Given the description of an element on the screen output the (x, y) to click on. 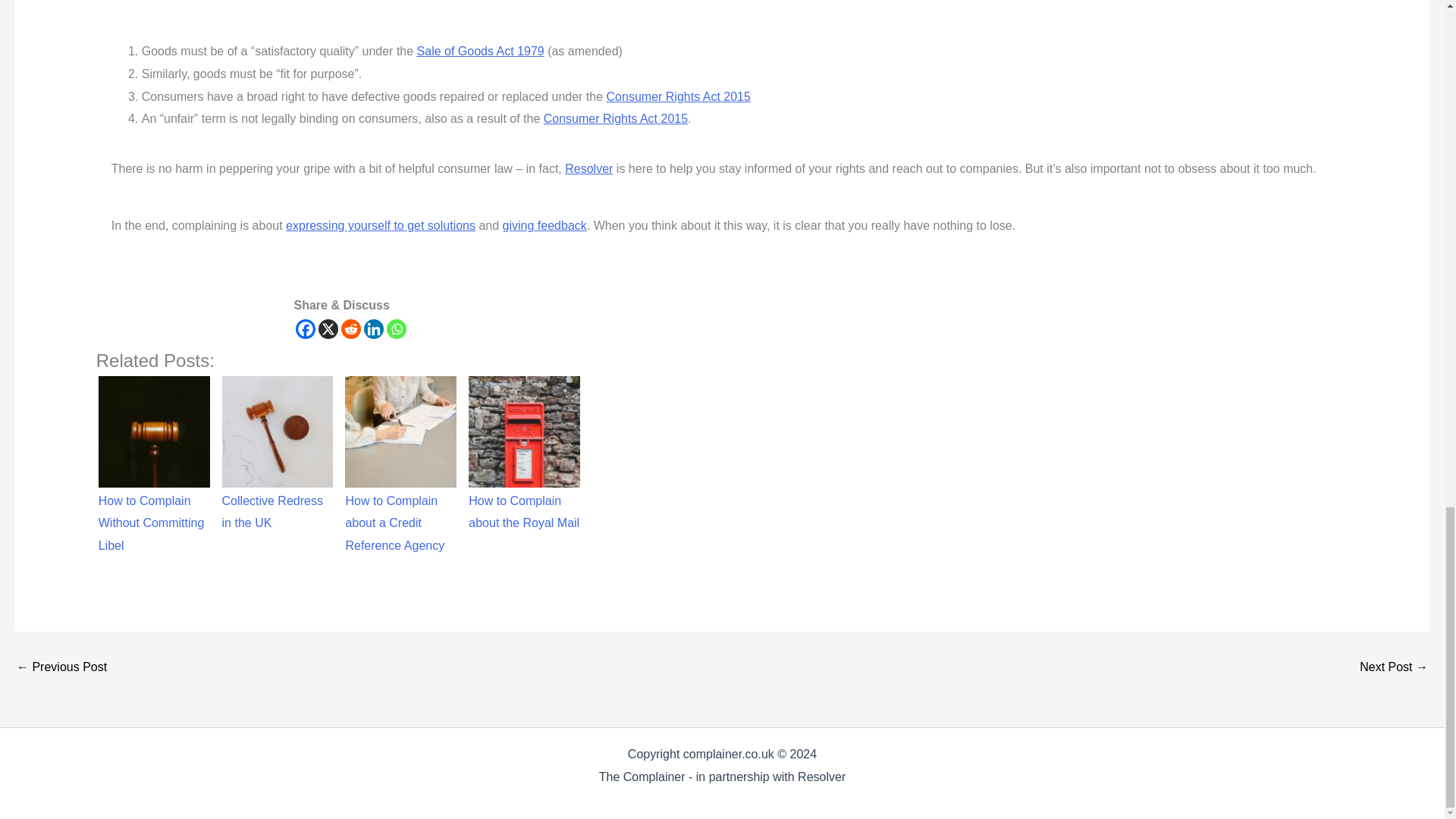
Consumer Rights Act 2015 (679, 96)
How to Complain Without Committing Libel (154, 431)
Facebook (305, 329)
Collective Redress in the UK (277, 431)
X (327, 329)
Linkedin (374, 329)
Whatsapp (396, 329)
Sale of Goods Act 1979 (480, 51)
Reddit (350, 329)
expressing yourself to get solutions (380, 225)
